Given the description of an element on the screen output the (x, y) to click on. 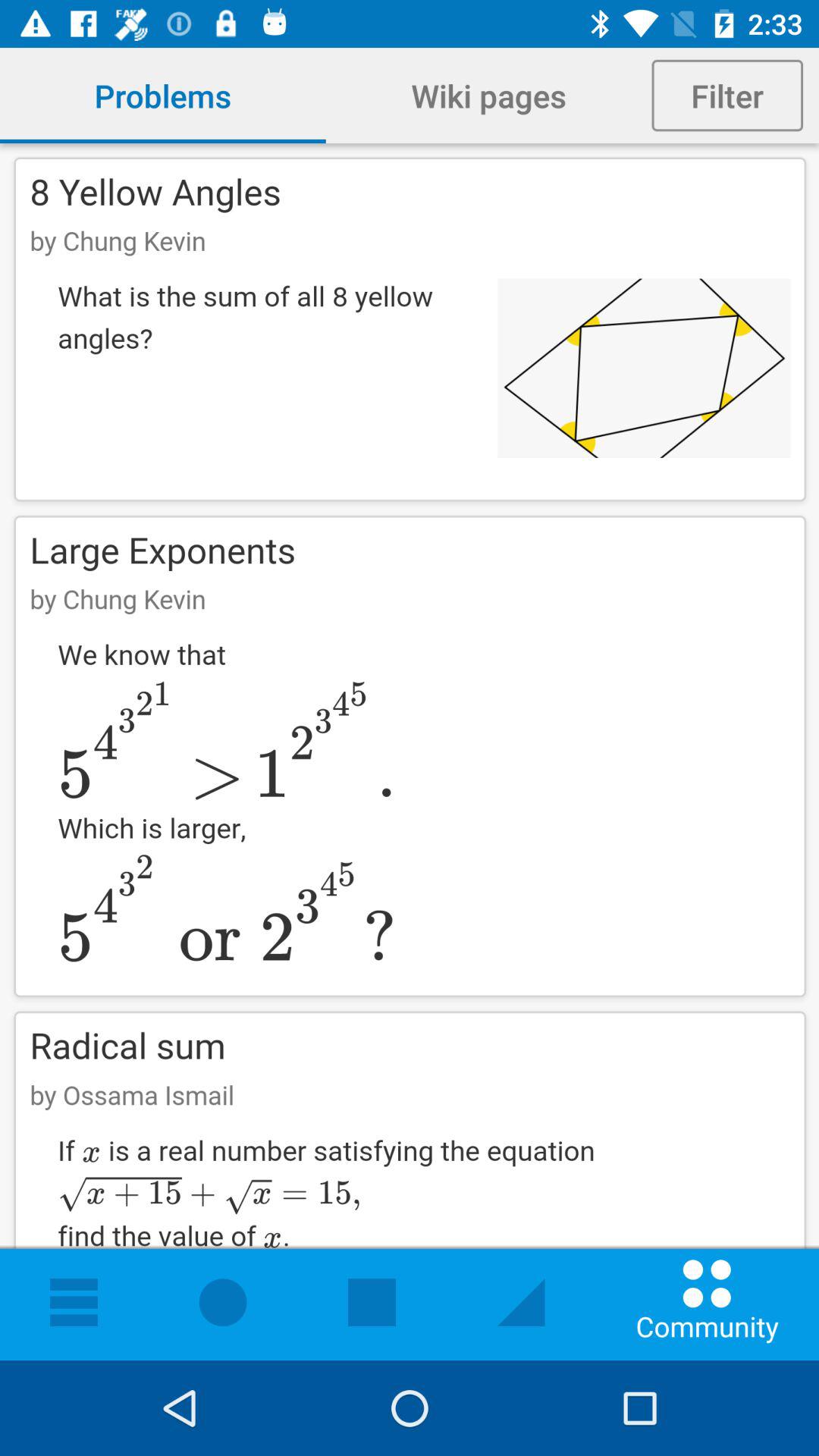
farmlo page (409, 751)
